Given the description of an element on the screen output the (x, y) to click on. 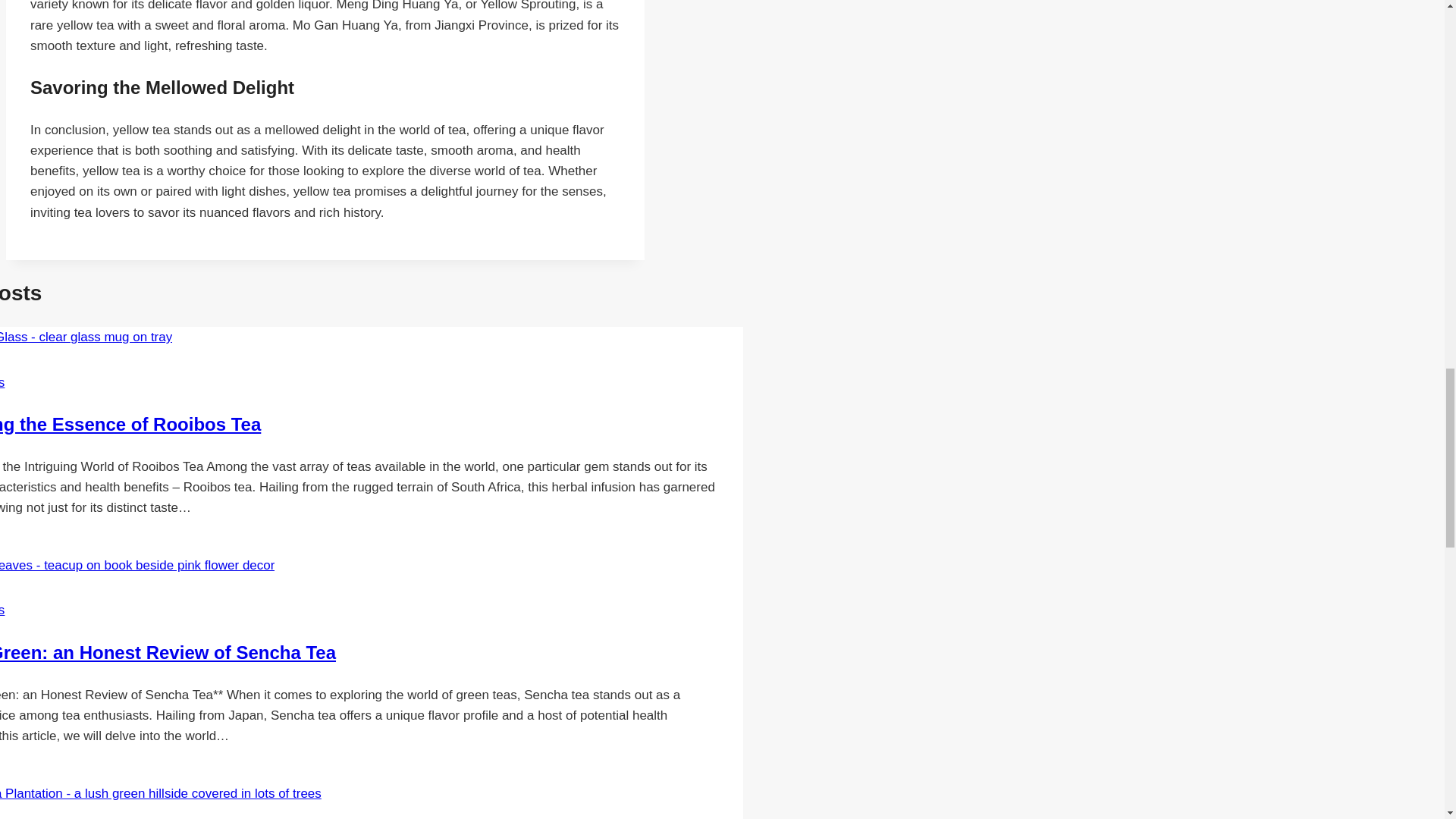
Decoding the Essence of Rooibos Tea (130, 424)
Going Green: an Honest Review of Sencha Tea (168, 652)
